Given the description of an element on the screen output the (x, y) to click on. 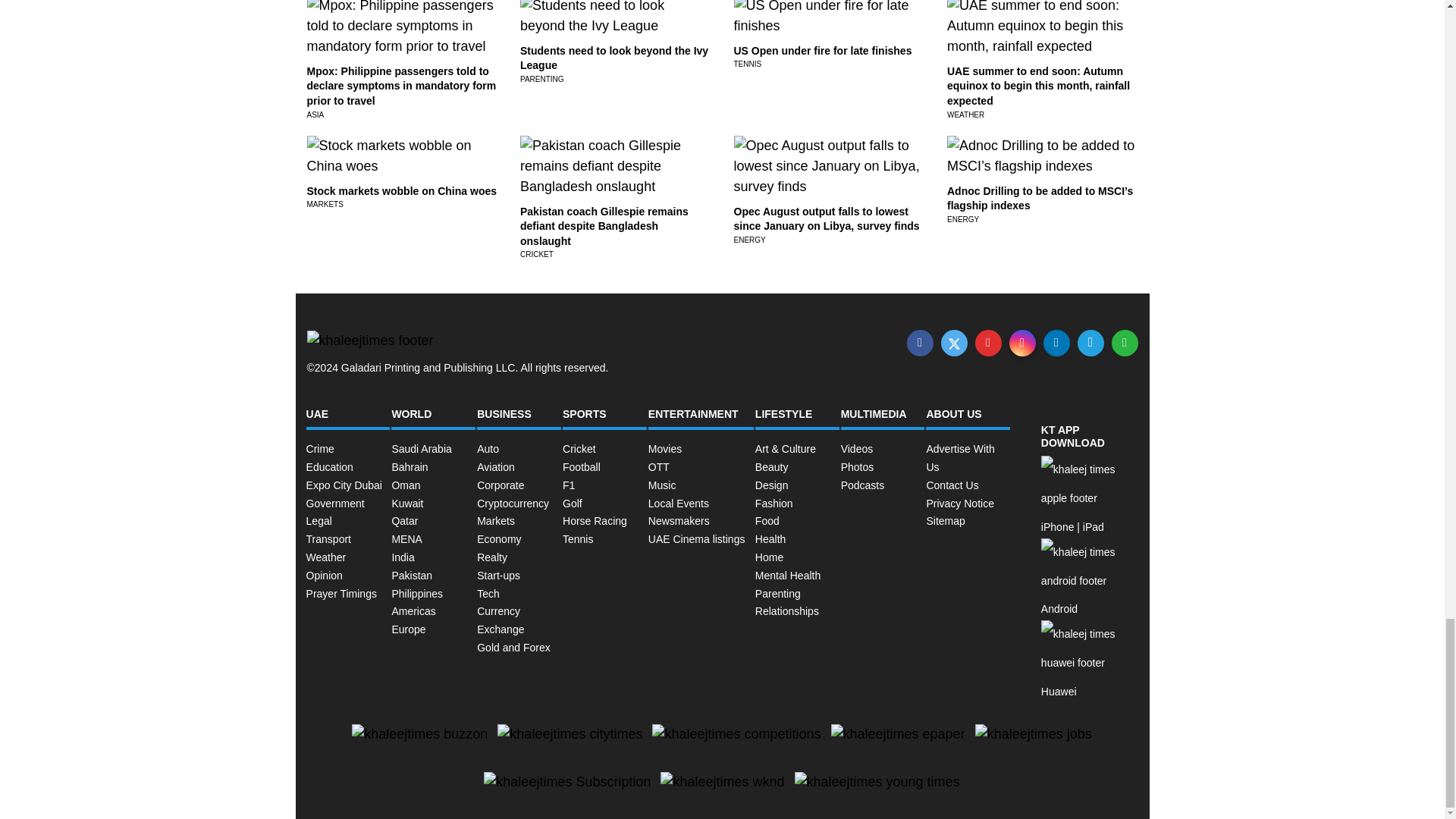
US Open under fire for late finishes (822, 50)
Students need to look beyond the Ivy League (613, 58)
Stock markets wobble on China woes (400, 191)
